Given the description of an element on the screen output the (x, y) to click on. 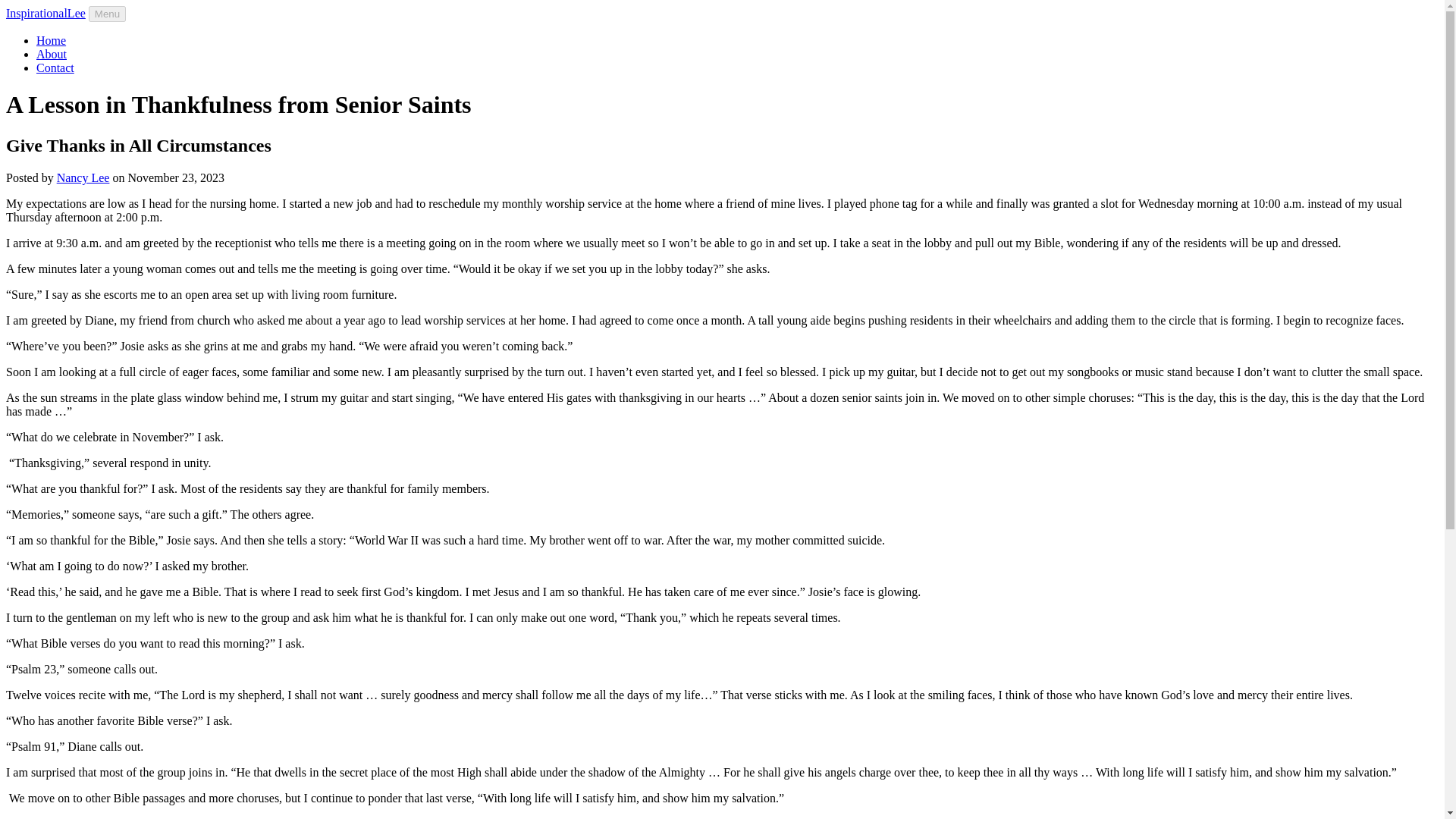
Home (50, 40)
Nancy Lee (83, 177)
Contact (55, 67)
InspirationalLee (45, 12)
About (51, 53)
Menu (106, 13)
